Given the description of an element on the screen output the (x, y) to click on. 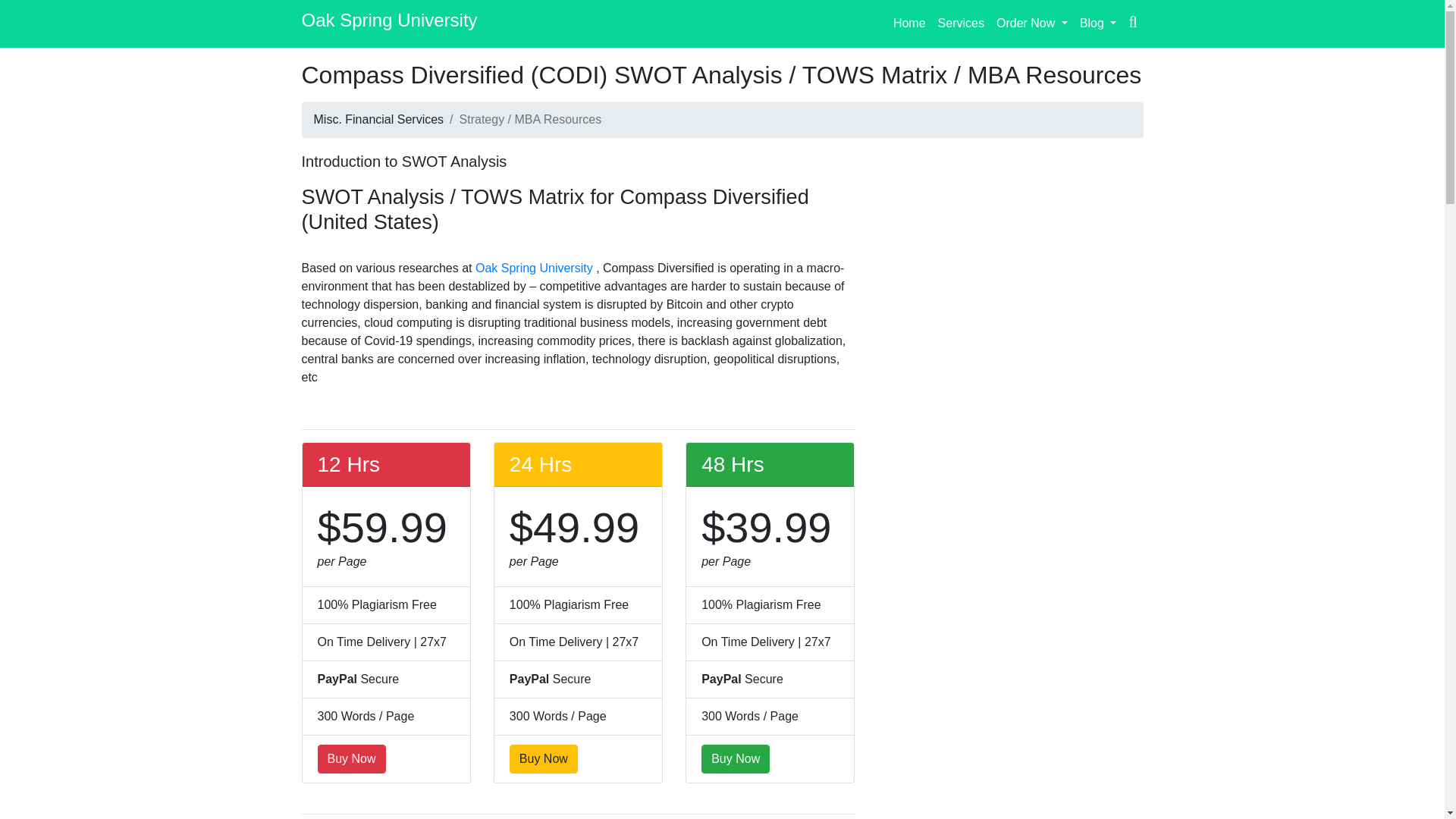
Blog (1098, 23)
Services (960, 23)
Oak Spring University (389, 23)
Buy Now (735, 758)
Buy Now (543, 758)
Home (908, 23)
Oak Spring University (535, 267)
Order Now (1032, 23)
Buy Now (351, 758)
